Given the description of an element on the screen output the (x, y) to click on. 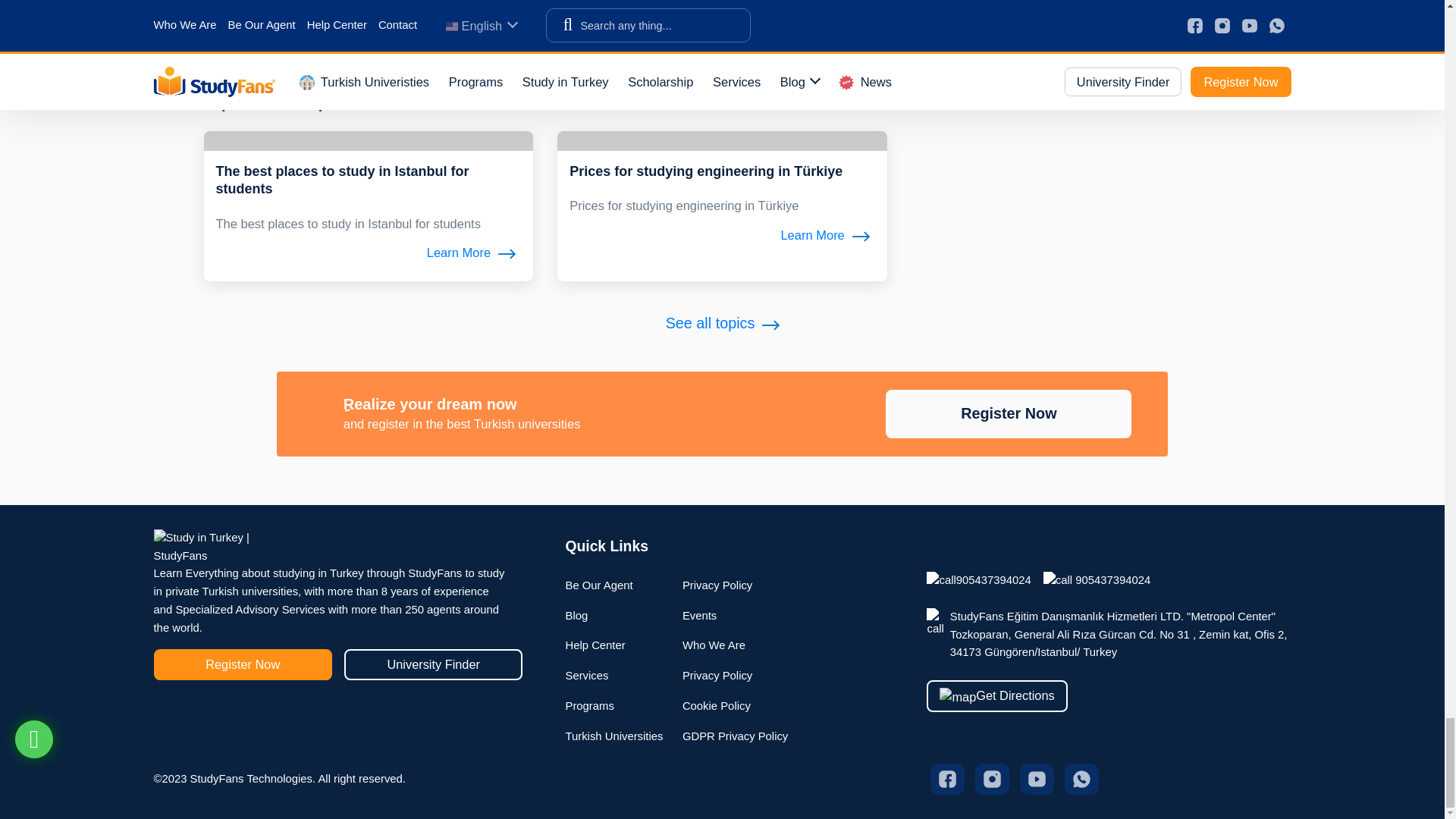
Facebook (946, 778)
Youtube (1035, 778)
instagram (992, 778)
